Given the description of an element on the screen output the (x, y) to click on. 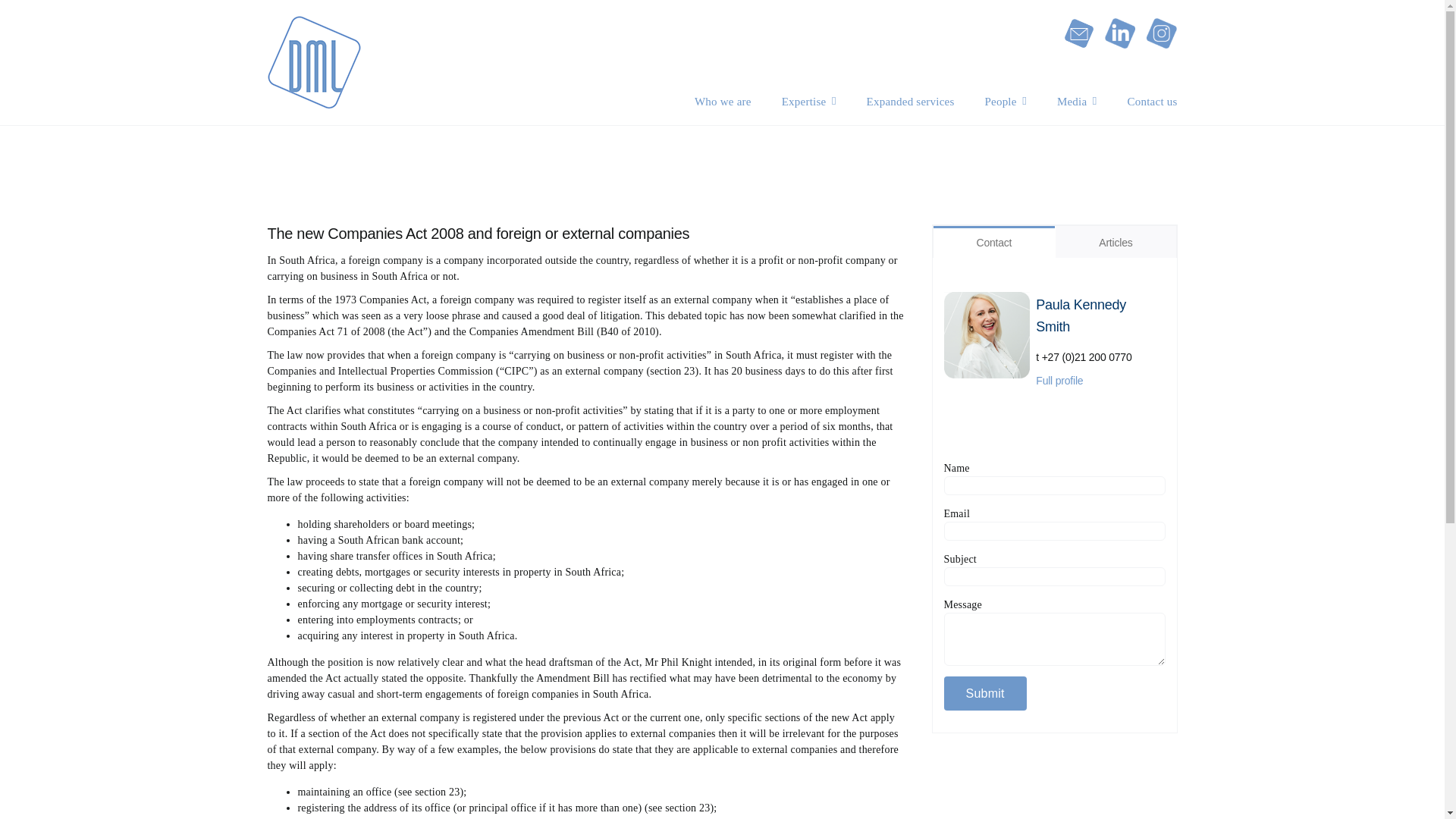
Who we are (722, 100)
Media (1077, 100)
Contact (993, 241)
Submit (984, 693)
Expertise (808, 100)
Articles (1114, 241)
Full profile (1059, 380)
People (1005, 100)
Contact us (1151, 100)
Submit (984, 693)
Expanded services (910, 100)
